Given the description of an element on the screen output the (x, y) to click on. 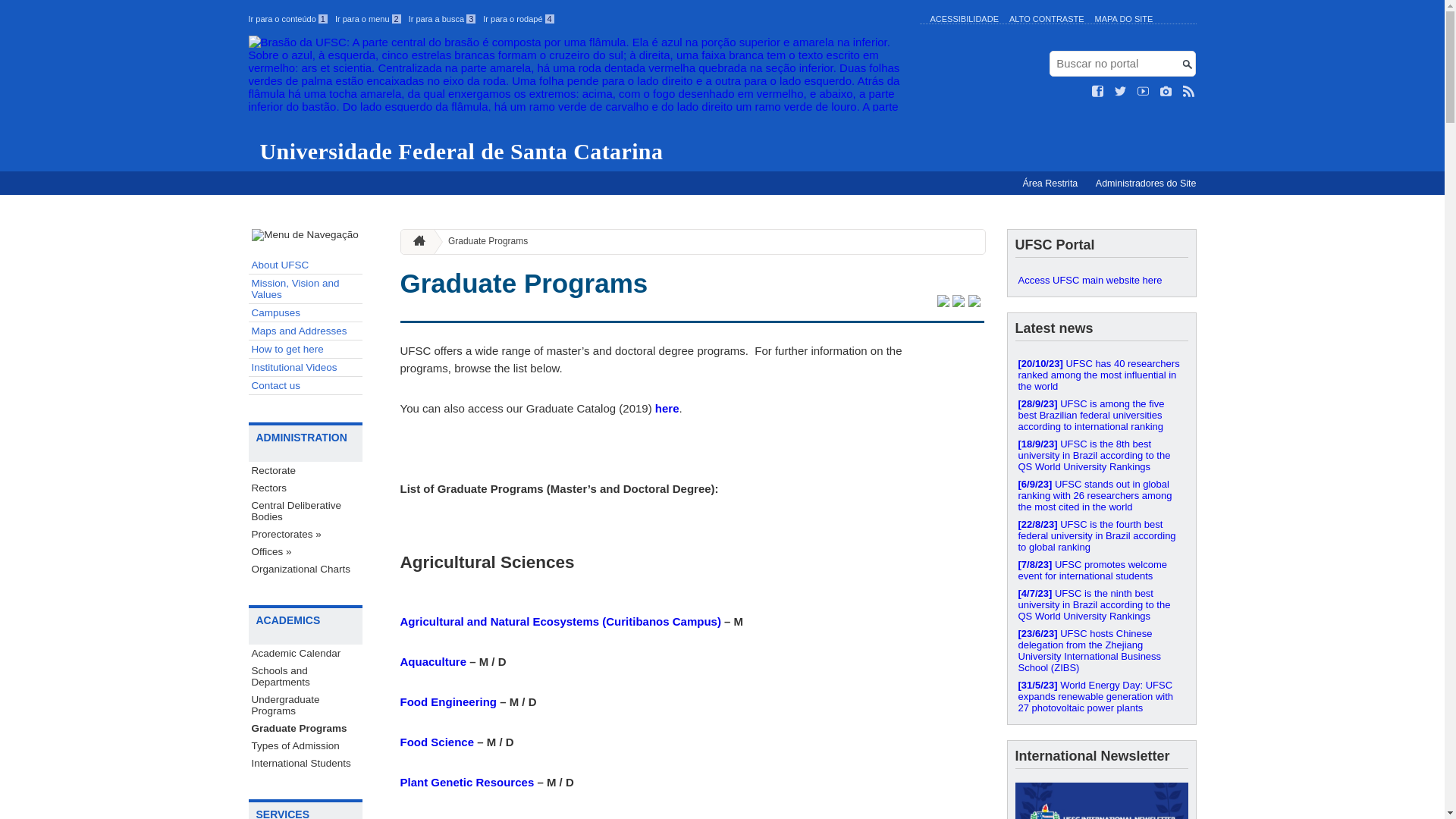
Compartilhar no WhatsApp Element type: hover (973, 302)
Rectors Element type: text (305, 487)
Ir para a busca 3 Element type: text (442, 18)
Agricultural and Natural Ecosystems (Curitibanos Campus) Element type: text (560, 621)
About UFSC Element type: text (305, 265)
Undergraduate Programs Element type: text (305, 704)
Graduate Programs Element type: text (481, 241)
Campuses Element type: text (305, 313)
International Students Element type: text (305, 762)
Veja no Instagram Element type: hover (1166, 91)
Mission, Vision and Values Element type: text (305, 289)
Graduate Programs Element type: text (524, 283)
Academic Calendar Element type: text (305, 653)
Rectorate Element type: text (305, 470)
How to get here Element type: text (305, 349)
Contact us Element type: text (305, 385)
Ir para o menu 2 Element type: text (368, 18)
Central Deliberative Bodies Element type: text (305, 510)
Aquaculture Element type: text (433, 661)
ALTO CONTRASTE Element type: text (1046, 18)
MAPA DO SITE Element type: text (1124, 18)
Types of Admission Element type: text (305, 745)
Food Science Element type: text (437, 741)
Siga no Twitter Element type: hover (1120, 91)
Universidade Federal de Santa Catarina Element type: text (580, 99)
Organizational Charts Element type: text (305, 568)
Institutional Videos Element type: text (305, 367)
Maps and Addresses Element type: text (305, 331)
ACESSIBILIDADE Element type: text (963, 18)
Graduate Programs Element type: text (305, 728)
Compartilhar no Facebook Element type: hover (958, 302)
Compartilhar no Twitter Element type: hover (943, 302)
Access UFSC main website here Element type: text (1100, 279)
Food Engineering Element type: text (448, 701)
Plant Genetic Resources Element type: text (467, 781)
Administradores do Site Element type: text (1146, 183)
Curta no Facebook Element type: hover (1098, 91)
here Element type: text (667, 407)
Schools and Departments Element type: text (305, 676)
